Given the description of an element on the screen output the (x, y) to click on. 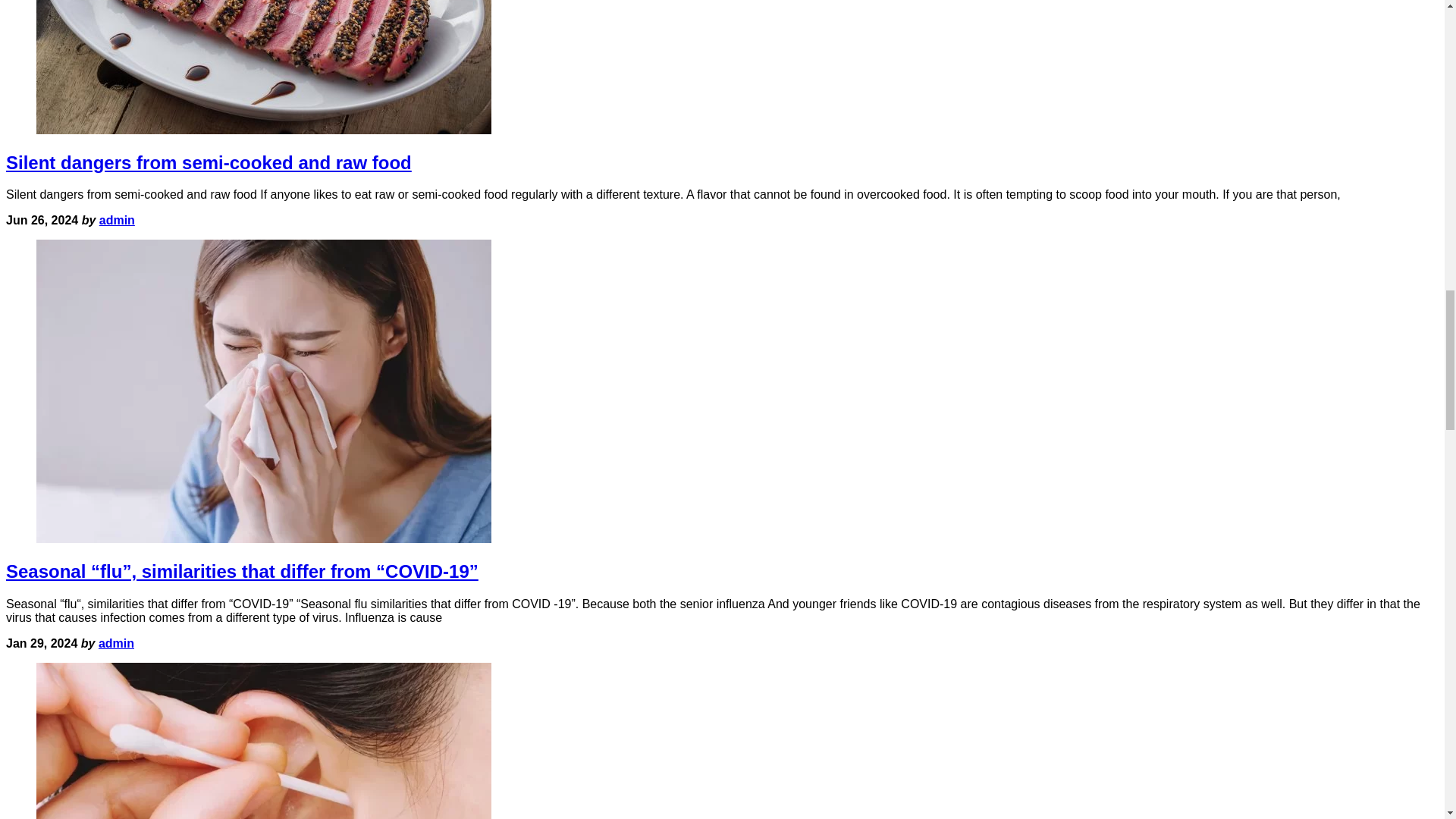
Silent dangers from semi-cooked and raw food (208, 162)
admin (116, 643)
admin (117, 219)
